Given the description of an element on the screen output the (x, y) to click on. 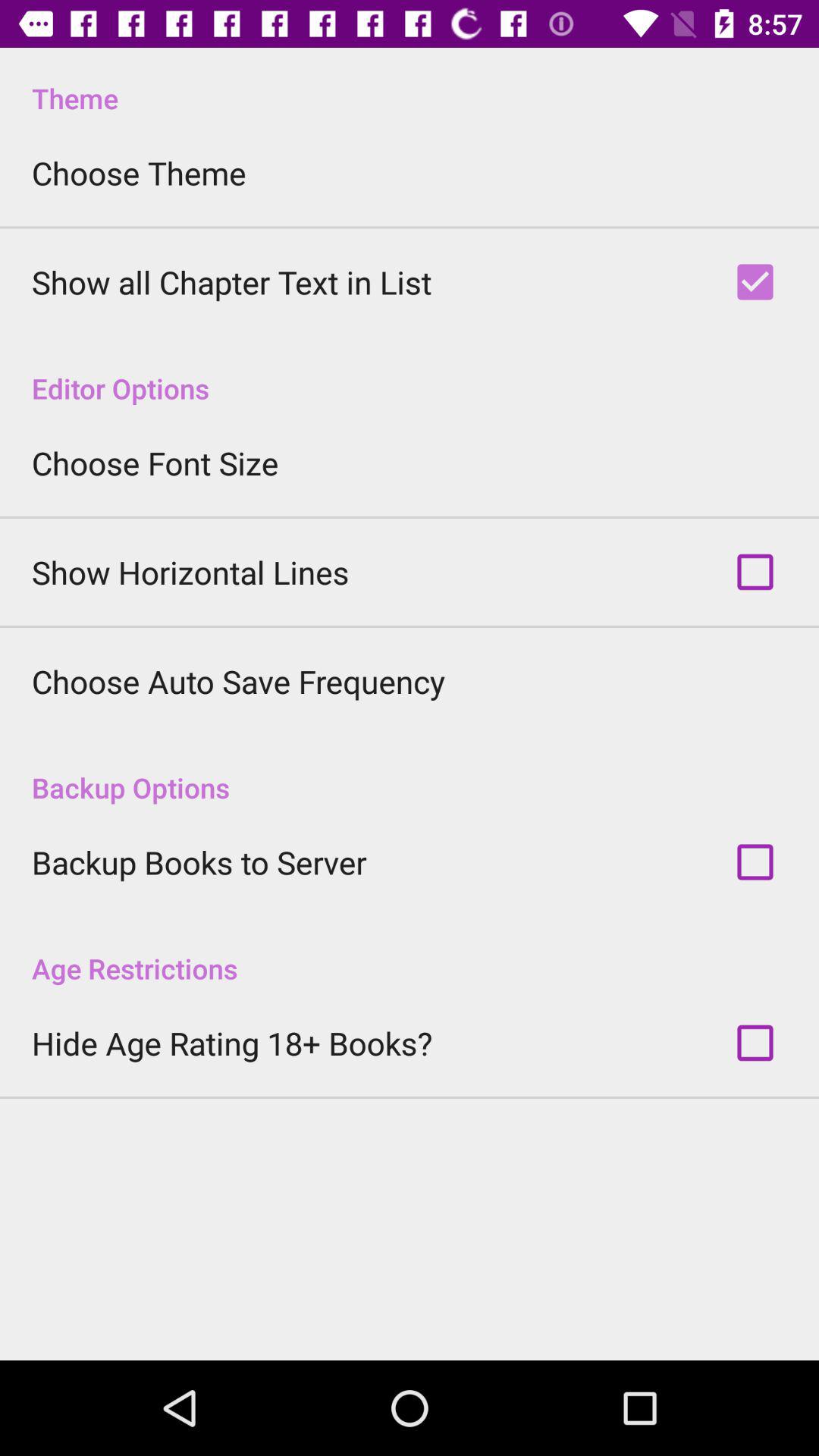
select show all chapter icon (231, 281)
